Given the description of an element on the screen output the (x, y) to click on. 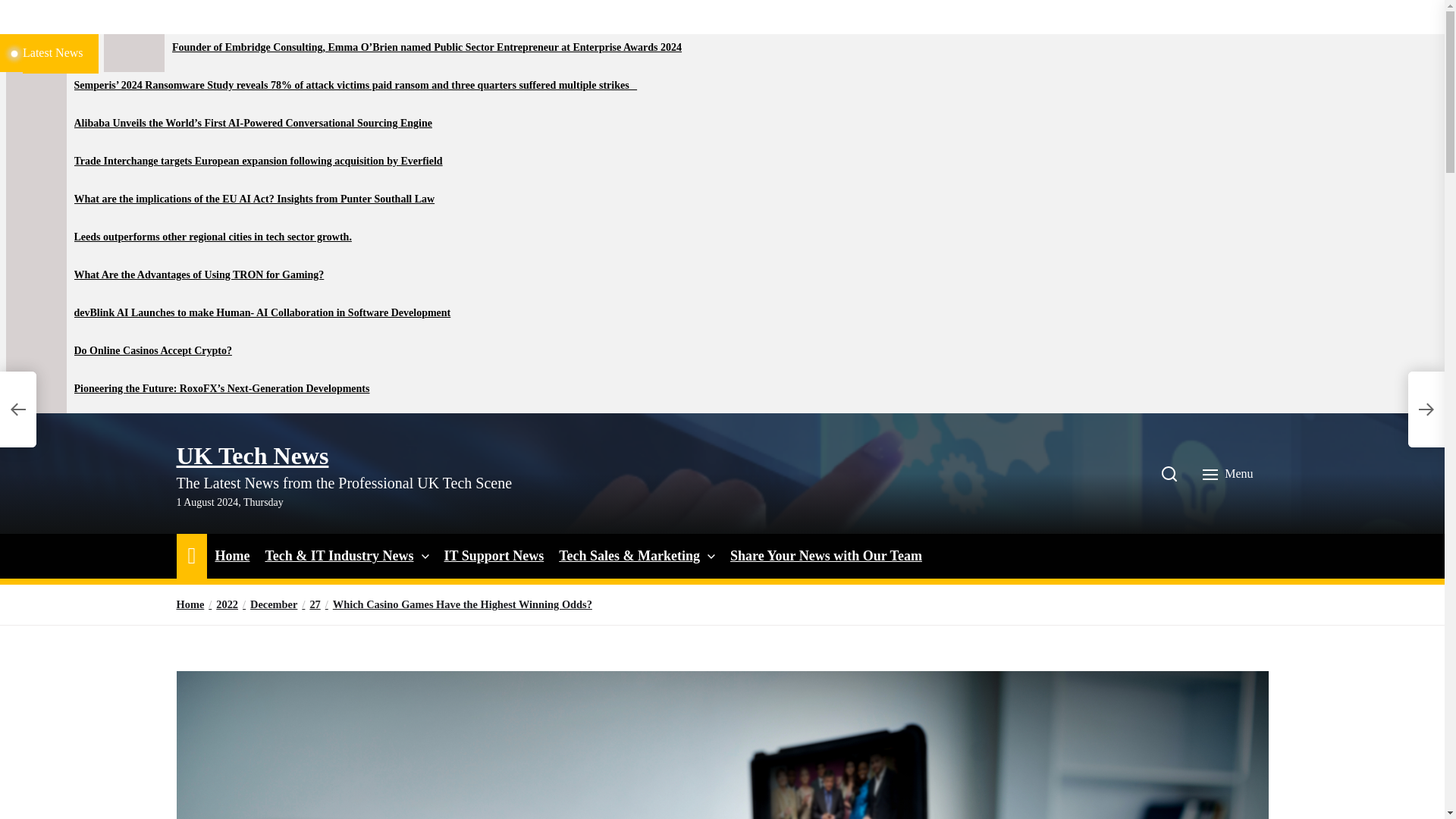
Menu (1229, 473)
UK Tech News (252, 455)
Home (231, 556)
IT Support News (494, 556)
